Given the description of an element on the screen output the (x, y) to click on. 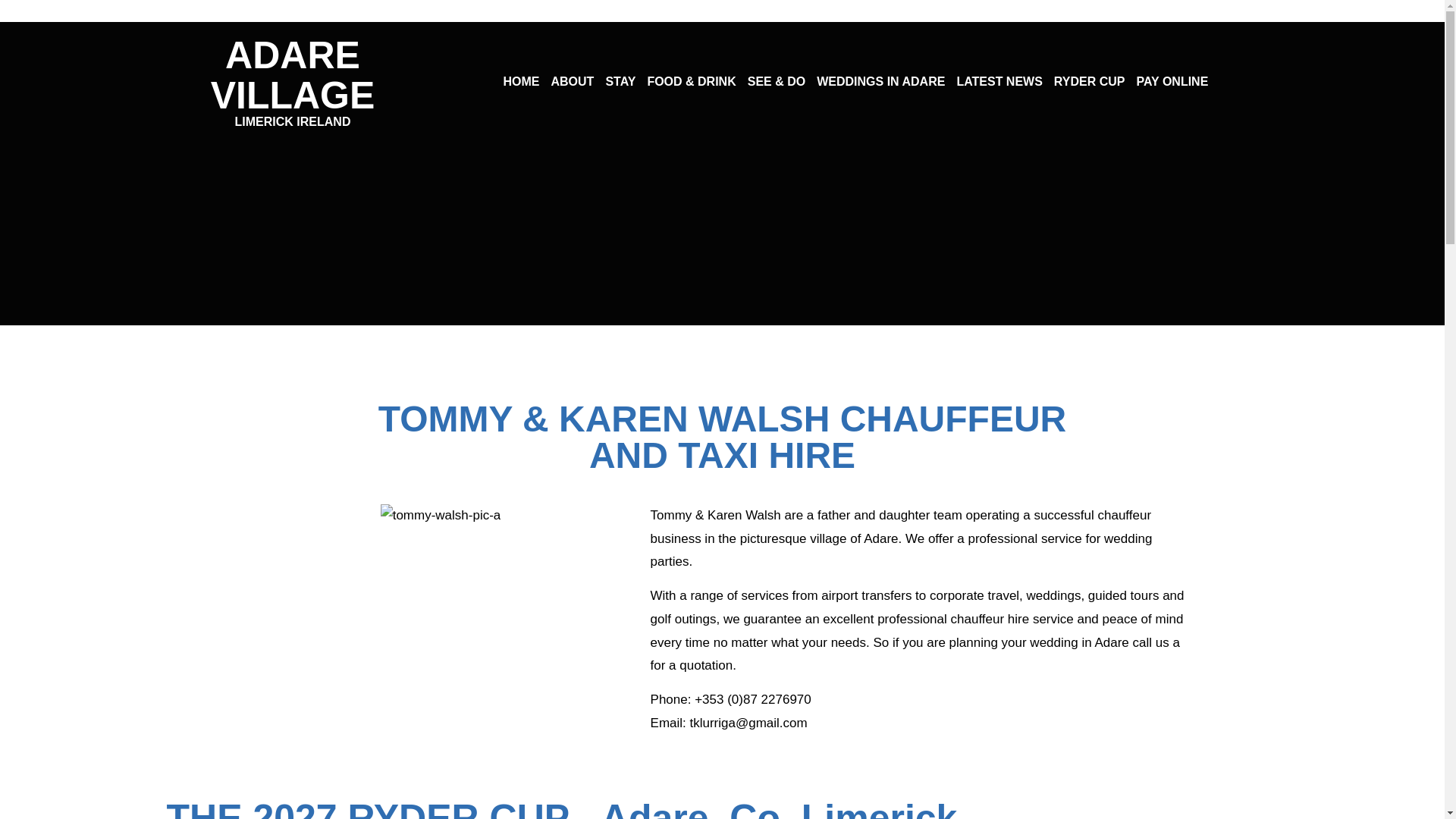
HOME (520, 82)
RYDER CUP (1089, 82)
ABOUT (572, 82)
STAY (619, 82)
WEDDINGS IN ADARE (880, 82)
PAY ONLINE (1171, 82)
LATEST NEWS (999, 82)
tommy-walsh-pic-a (293, 80)
